Given the description of an element on the screen output the (x, y) to click on. 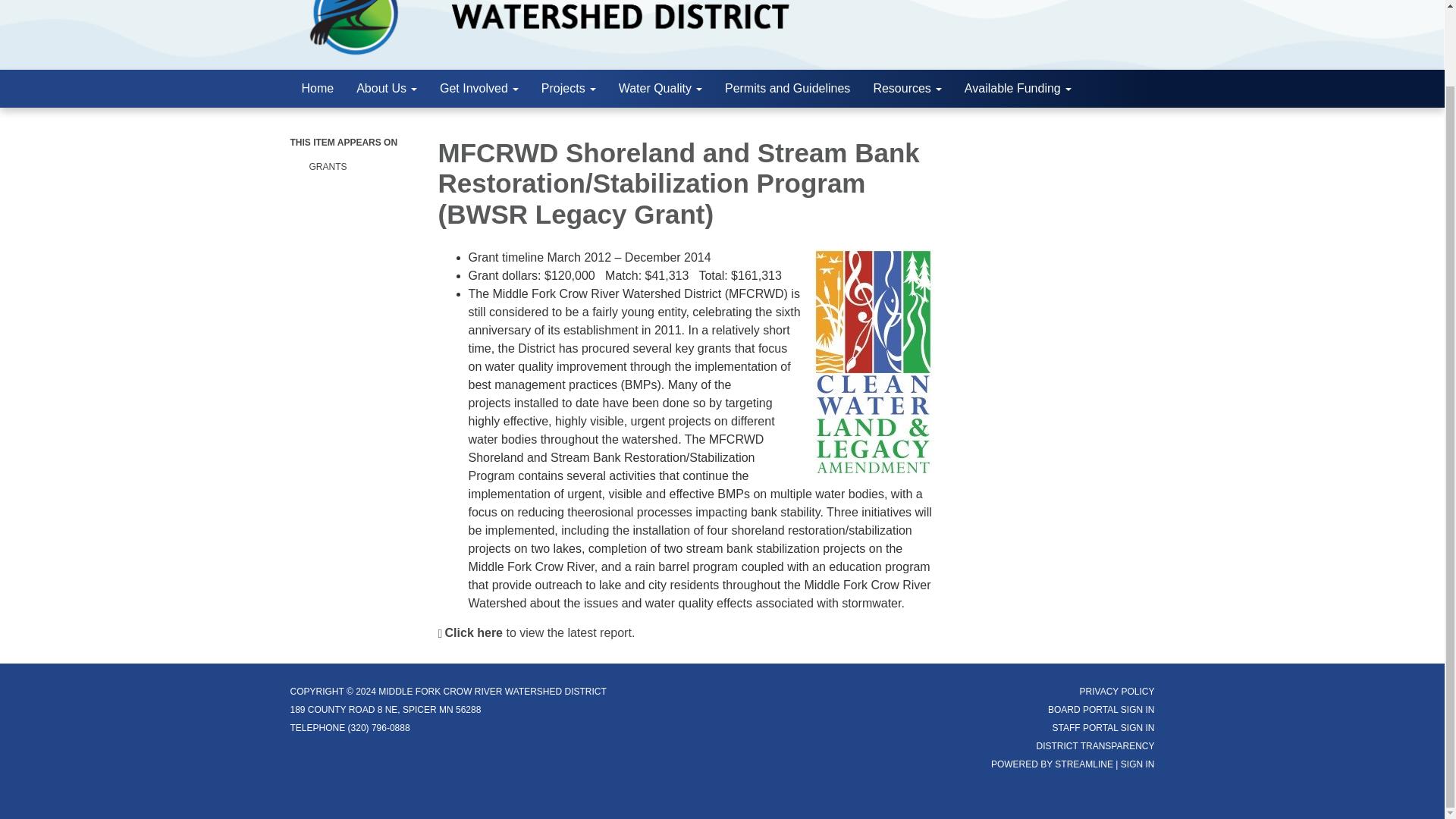
Special District Transparency Report (1094, 746)
Streamline: Technology for Special Districts (1083, 764)
Get Involved (478, 88)
About Us (386, 88)
Projects (568, 88)
Home (317, 88)
